Given the description of an element on the screen output the (x, y) to click on. 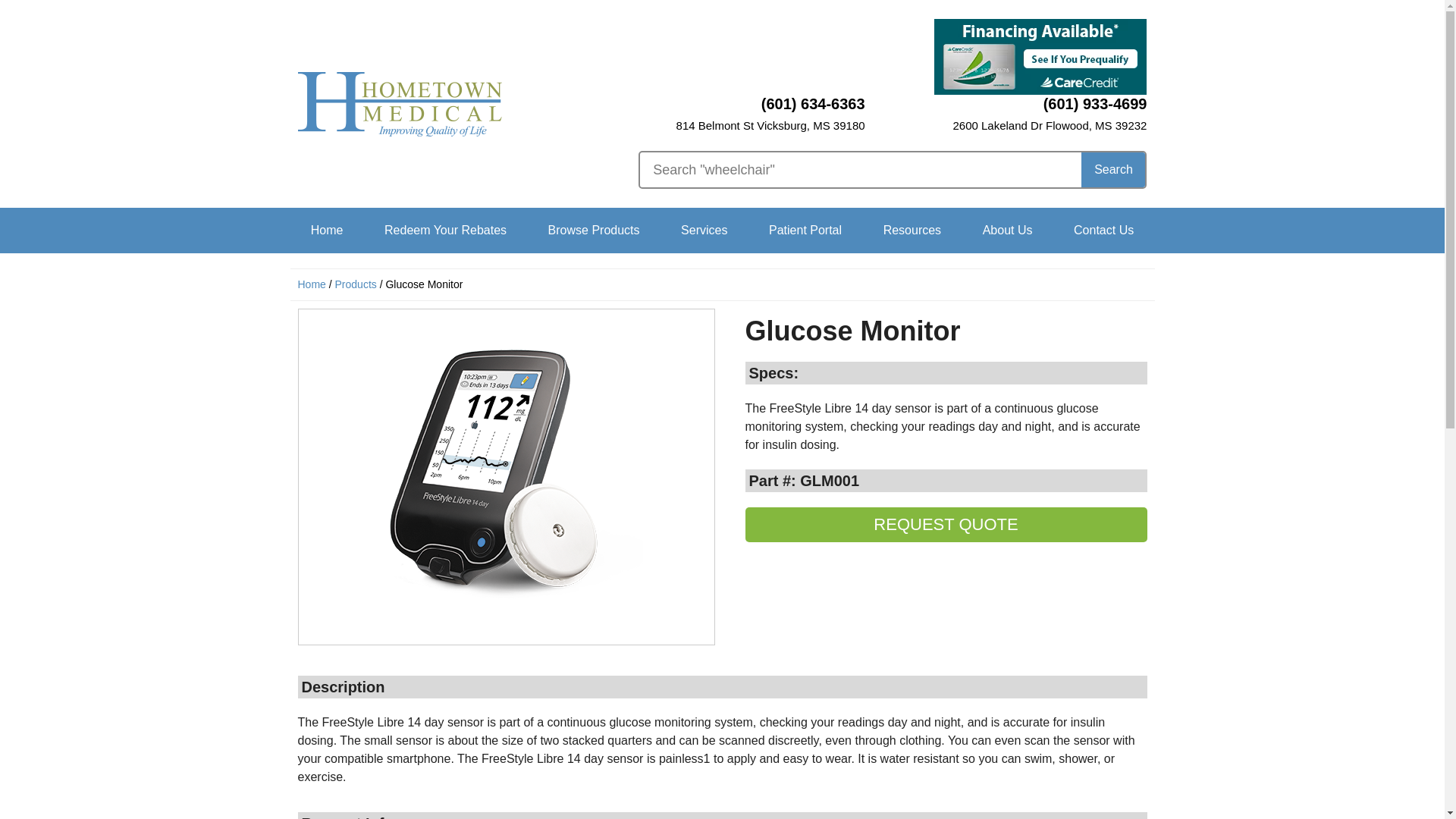
About Us (1006, 230)
Contact Us (1103, 230)
814 Belmont St Vicksburg, MS 39180 (770, 124)
Patient Portal (805, 230)
Search (1112, 169)
Resources (910, 230)
Services (704, 230)
Redeem Your Rebates (445, 230)
2600 Lakeland Dr Flowood, MS 39232 (1049, 124)
Browse Products (594, 230)
